Given the description of an element on the screen output the (x, y) to click on. 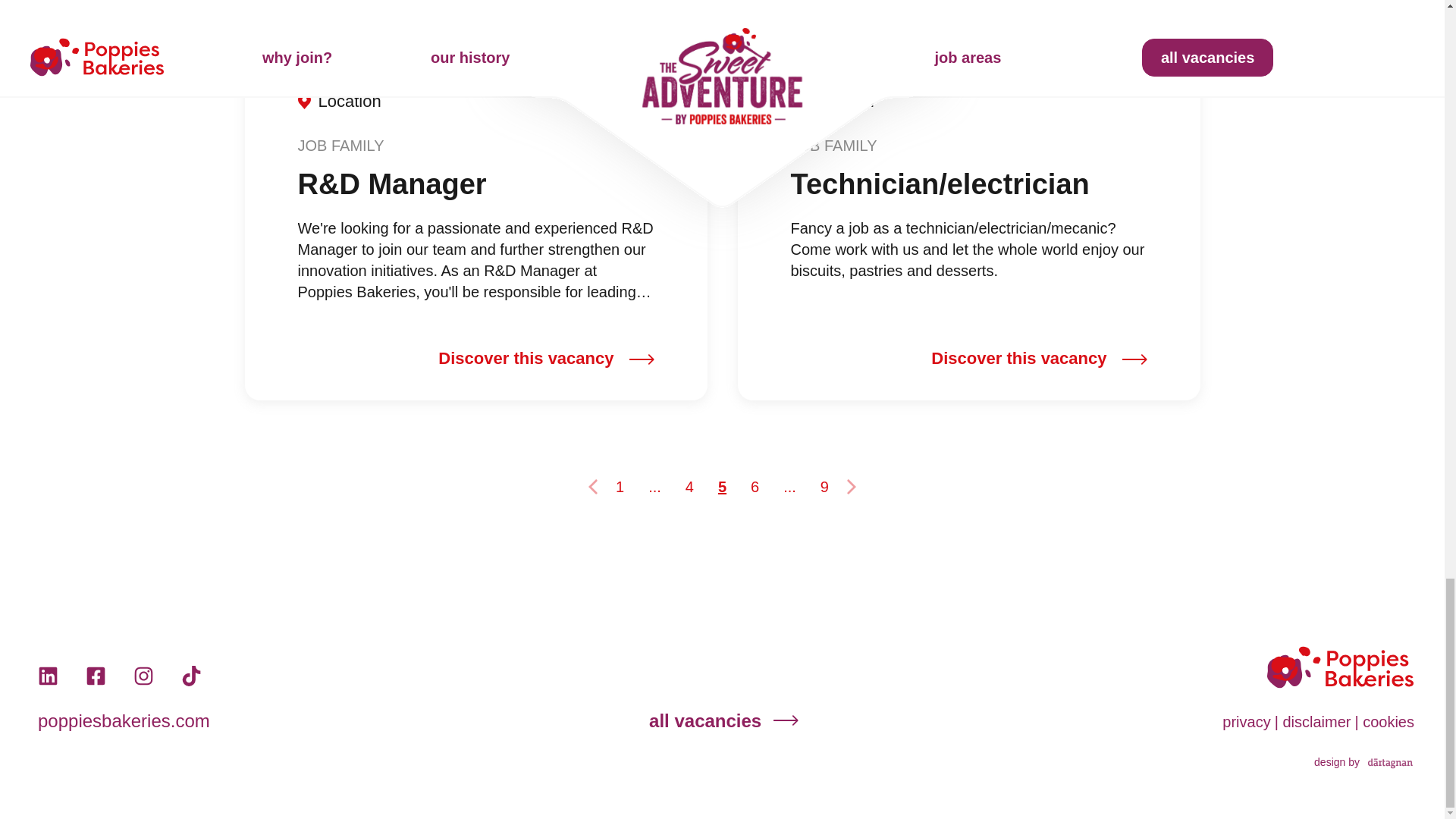
Discover this vacancy (545, 359)
... (654, 486)
... (789, 486)
Discover this vacancy (1039, 359)
